Given the description of an element on the screen output the (x, y) to click on. 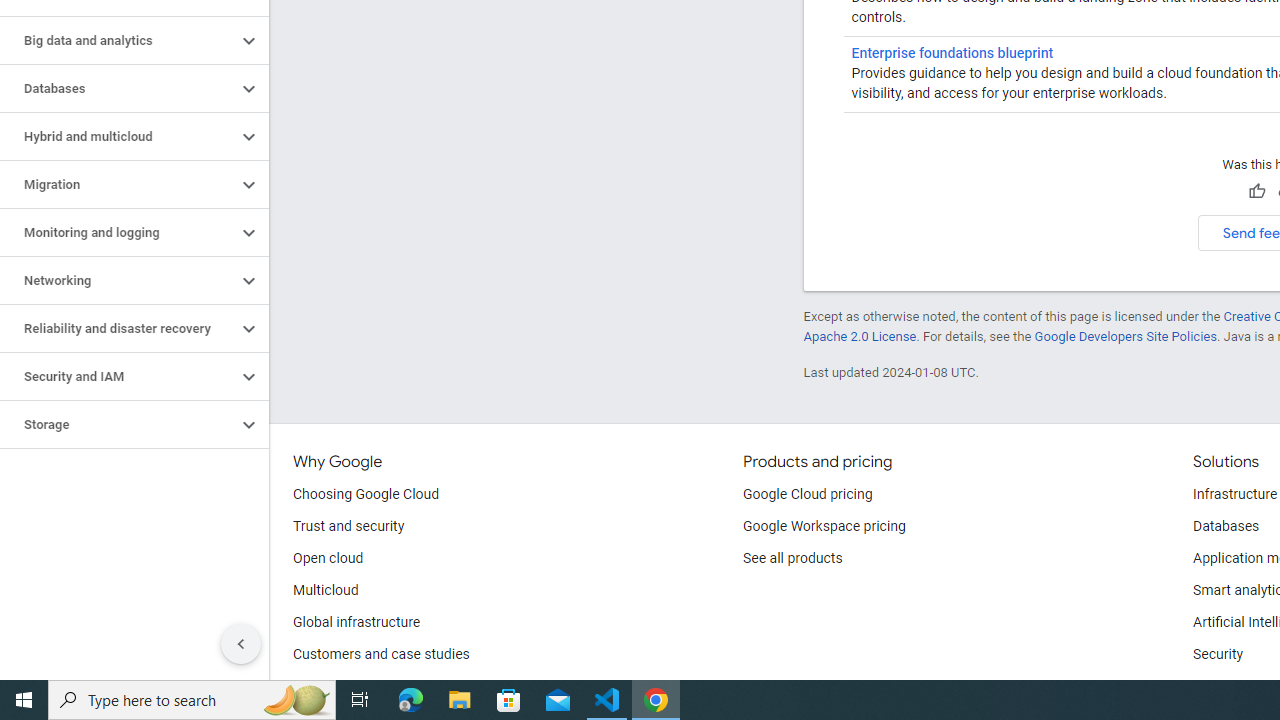
Hybrid and multicloud (118, 137)
Databases (118, 88)
Security (1218, 655)
Trust and security (348, 526)
Customers and case studies (381, 655)
Global infrastructure (357, 622)
Choosing Google Cloud (366, 494)
Storage (118, 425)
Google Developers Site Policies (1125, 336)
Hide side navigation (241, 643)
Networking (118, 281)
Monitoring and logging (118, 232)
Analyst reports (340, 686)
Apache 2.0 License (859, 336)
